Given the description of an element on the screen output the (x, y) to click on. 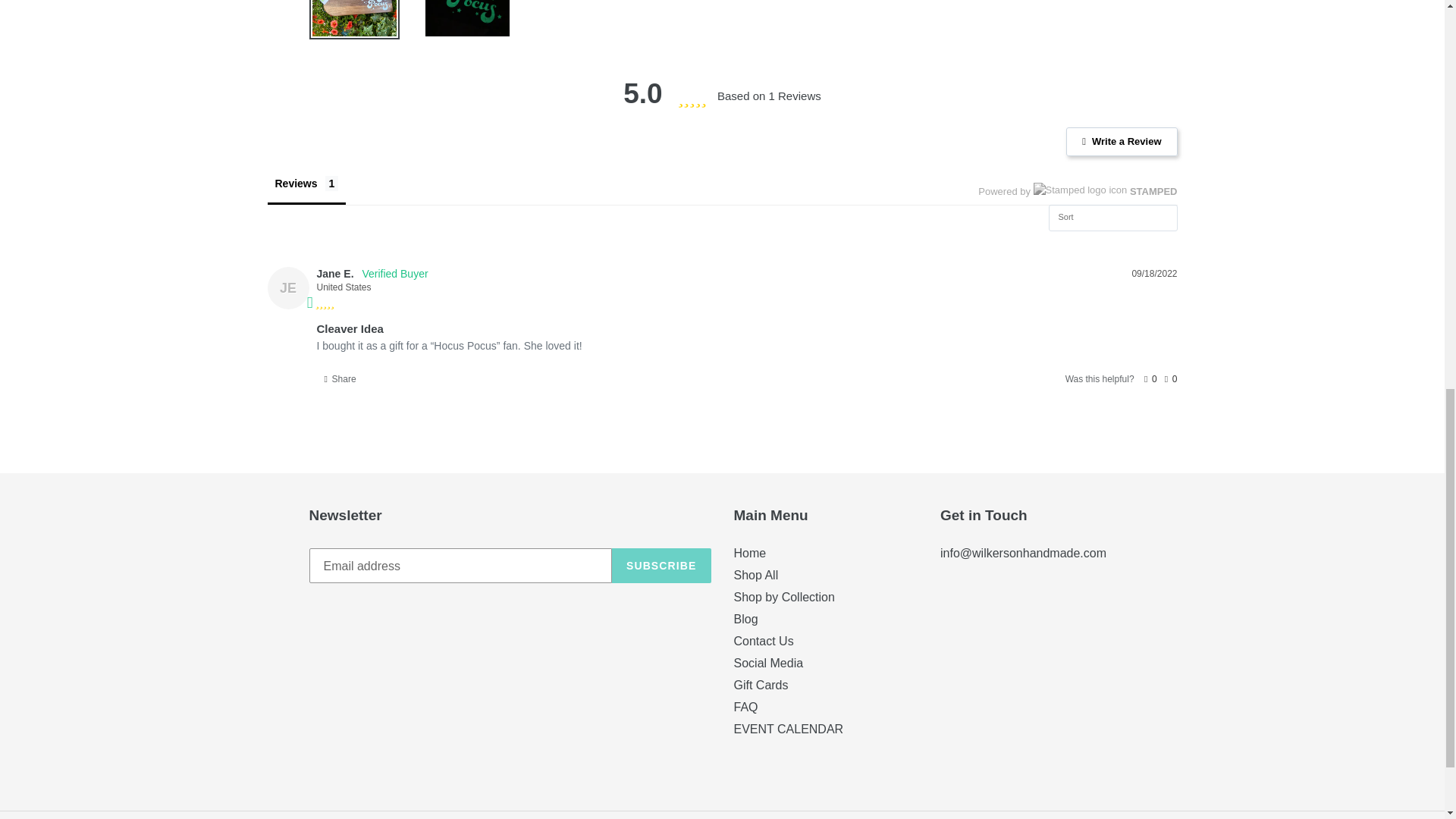
Powered by STAMPED (1077, 191)
